Given the description of an element on the screen output the (x, y) to click on. 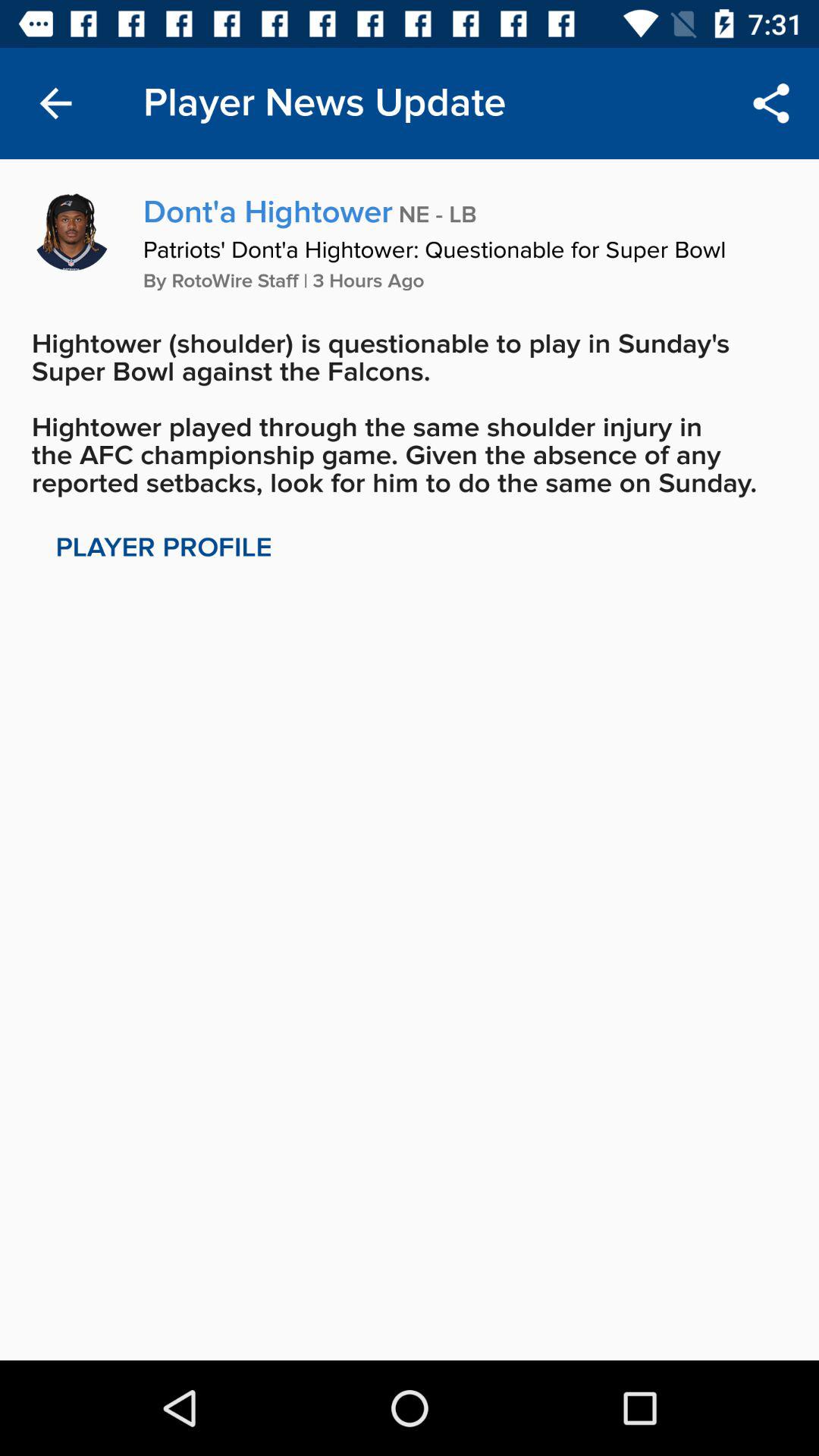
flip to the player profile (163, 547)
